Given the description of an element on the screen output the (x, y) to click on. 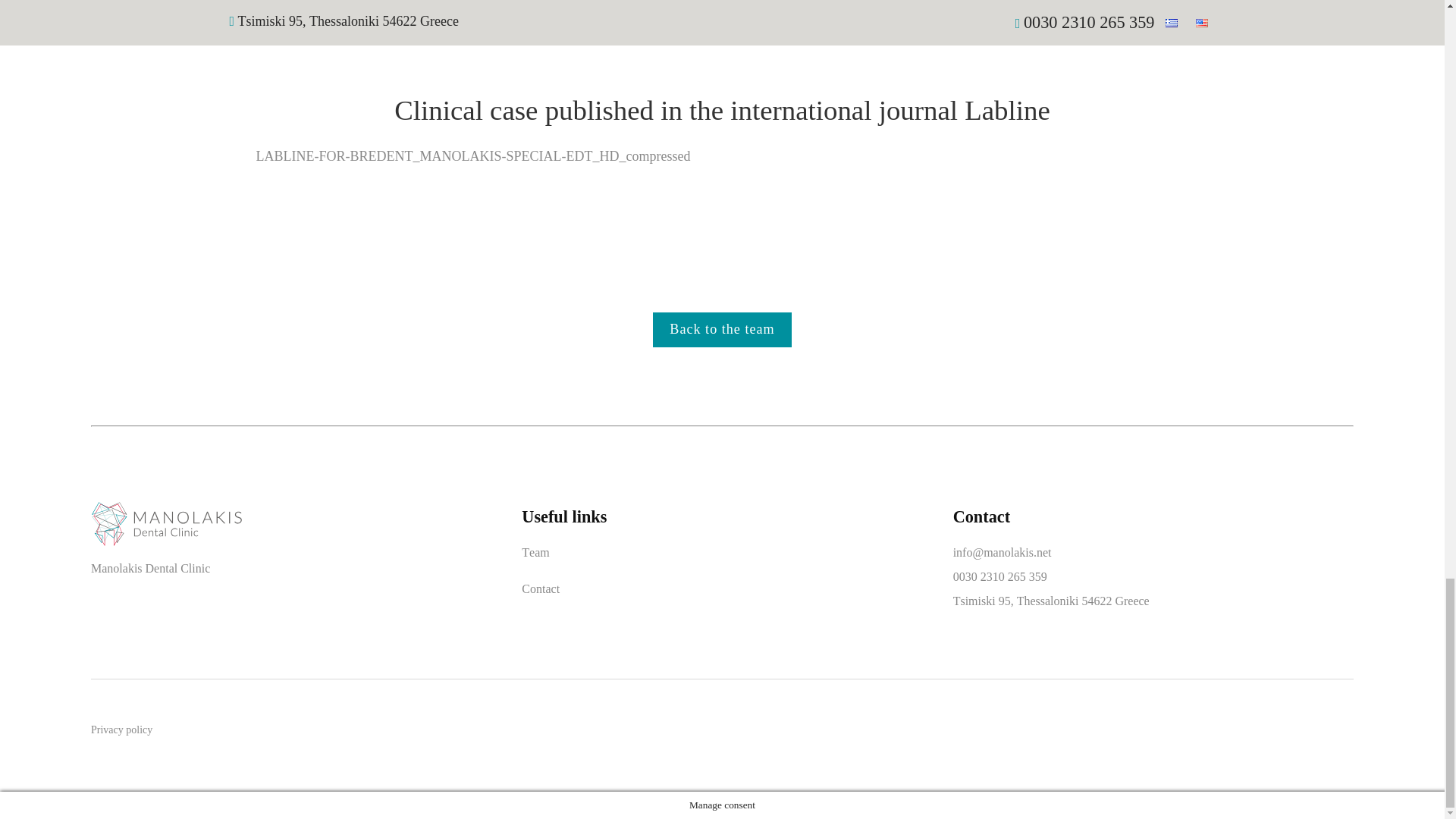
Team (534, 552)
0030 2310 265 359 (999, 576)
Tsimiski 95, Thessaloniki 54622 Greece (1051, 600)
Back to the team (721, 329)
Contact (540, 588)
Privacy policy (121, 729)
